Given the description of an element on the screen output the (x, y) to click on. 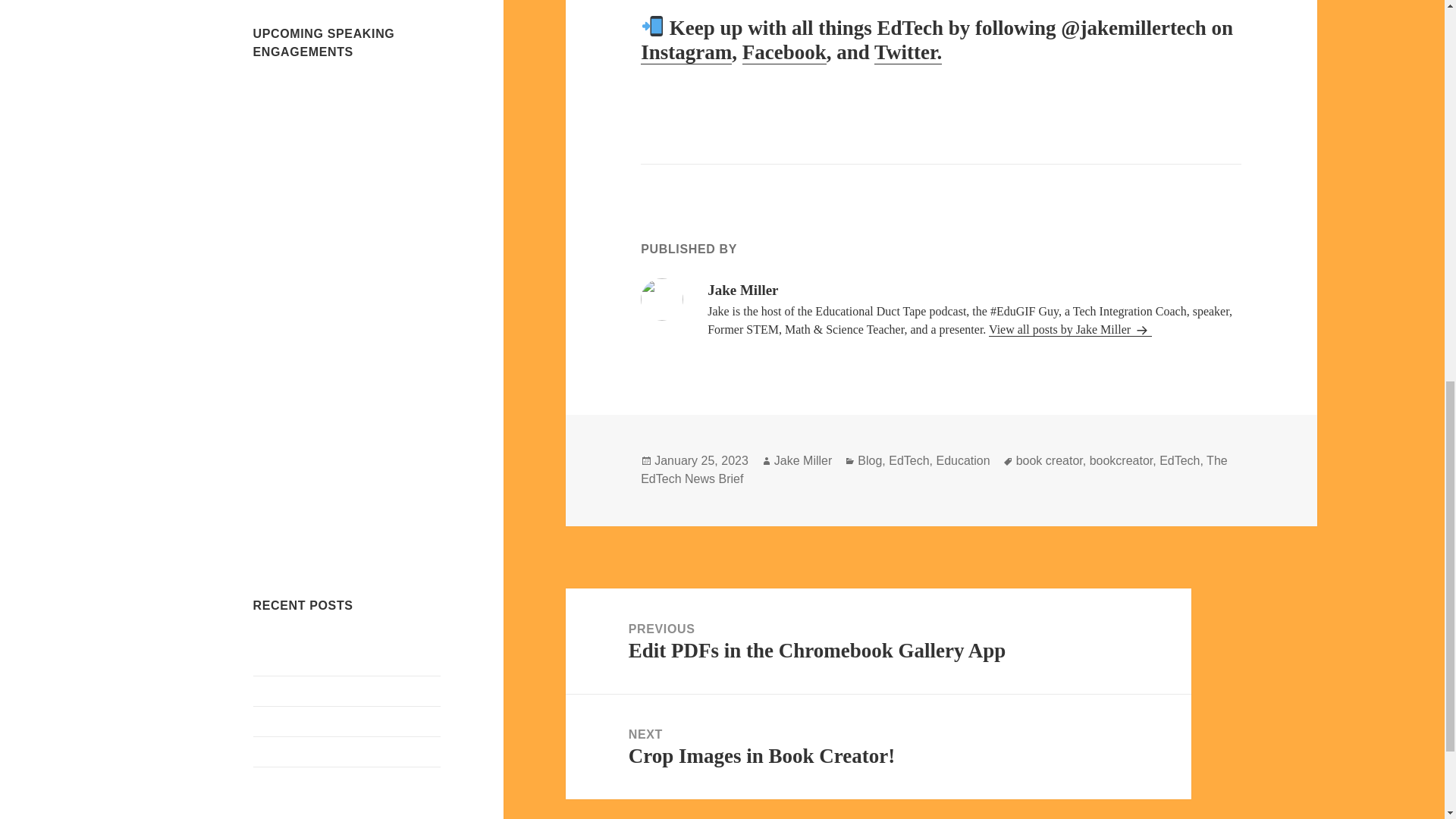
Canva for Campus (298, 780)
Instagram (686, 52)
The EdTech News Brief (933, 470)
View all posts by Jake Miller (1069, 329)
Follow Feature in Google Slides (331, 689)
Blog (869, 460)
EdTech (908, 460)
bookcreator (1121, 460)
book creator (1049, 460)
Education (878, 640)
Twitter. (963, 460)
Facebook (908, 52)
Jake Miller (784, 52)
